Given the description of an element on the screen output the (x, y) to click on. 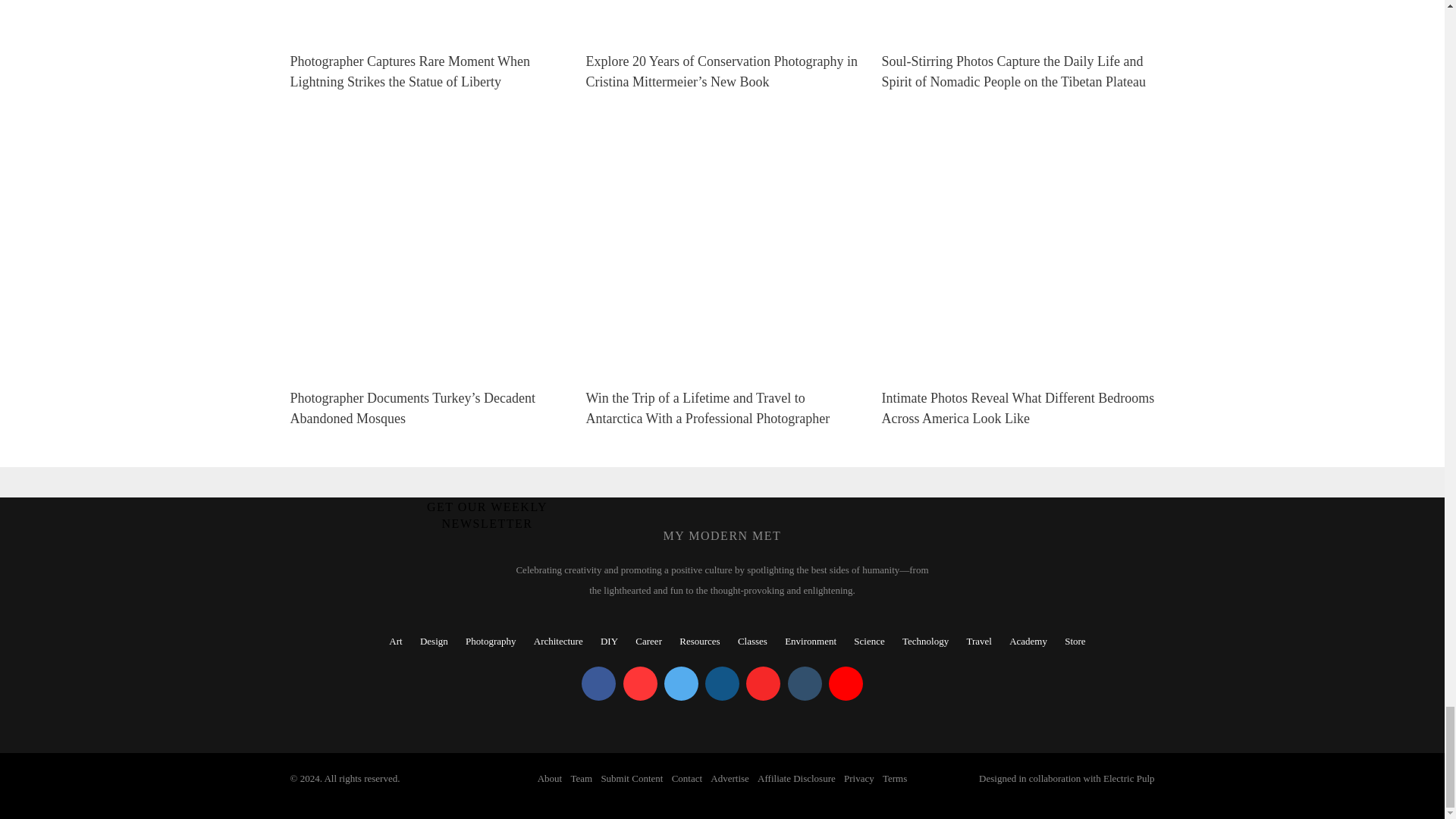
My Modern Met on YouTube (845, 683)
My Modern Met on Tumblr (804, 683)
My Modern Met on Instagram (721, 683)
My Modern Met on Twitter (680, 683)
My Modern Met on Pinterest (640, 683)
My Modern Met on Facebook (597, 683)
